Given the description of an element on the screen output the (x, y) to click on. 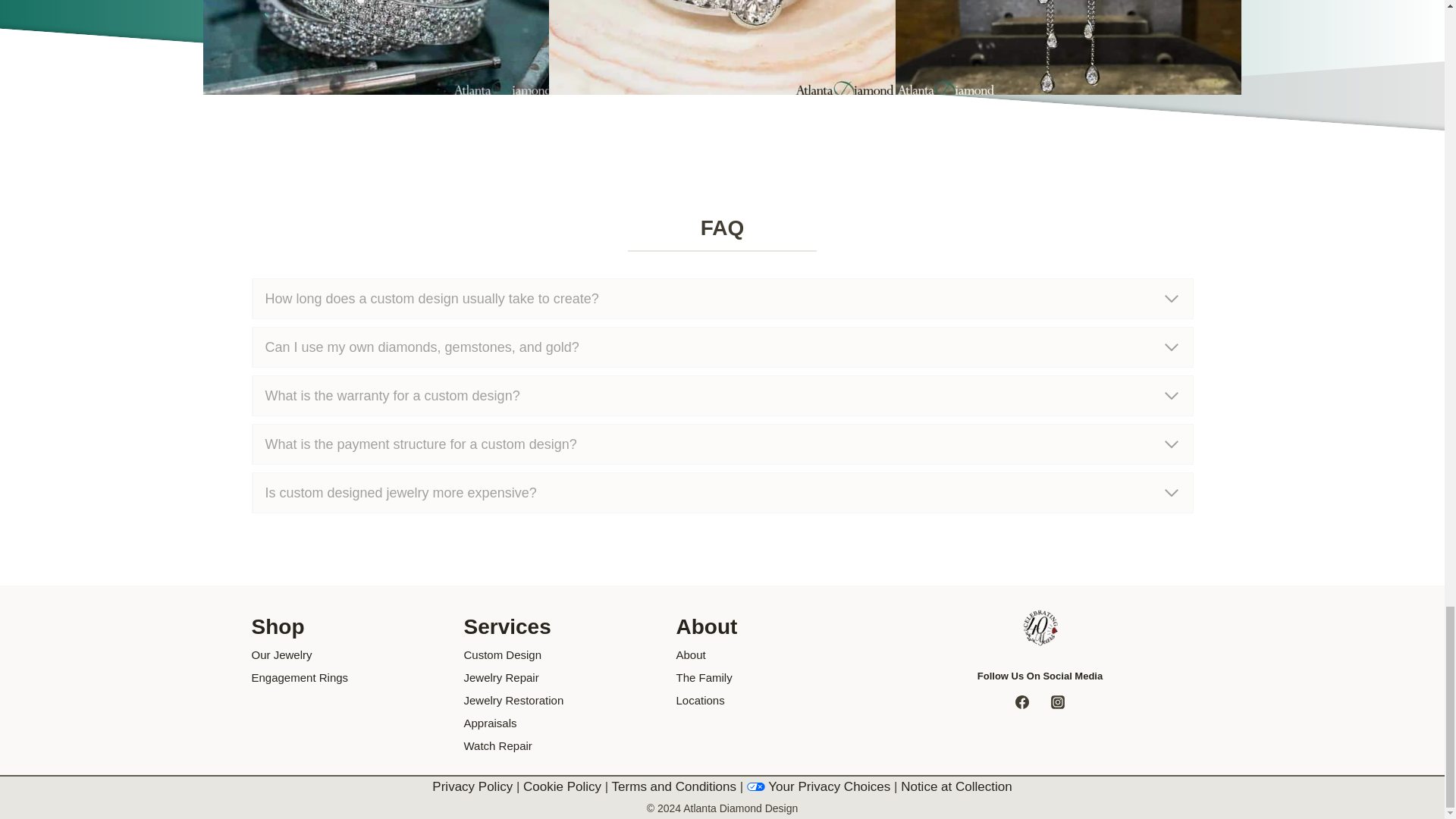
Cookie Policy  (561, 786)
Terms and Conditions  (673, 786)
Privacy Policy  (472, 786)
